Given the description of an element on the screen output the (x, y) to click on. 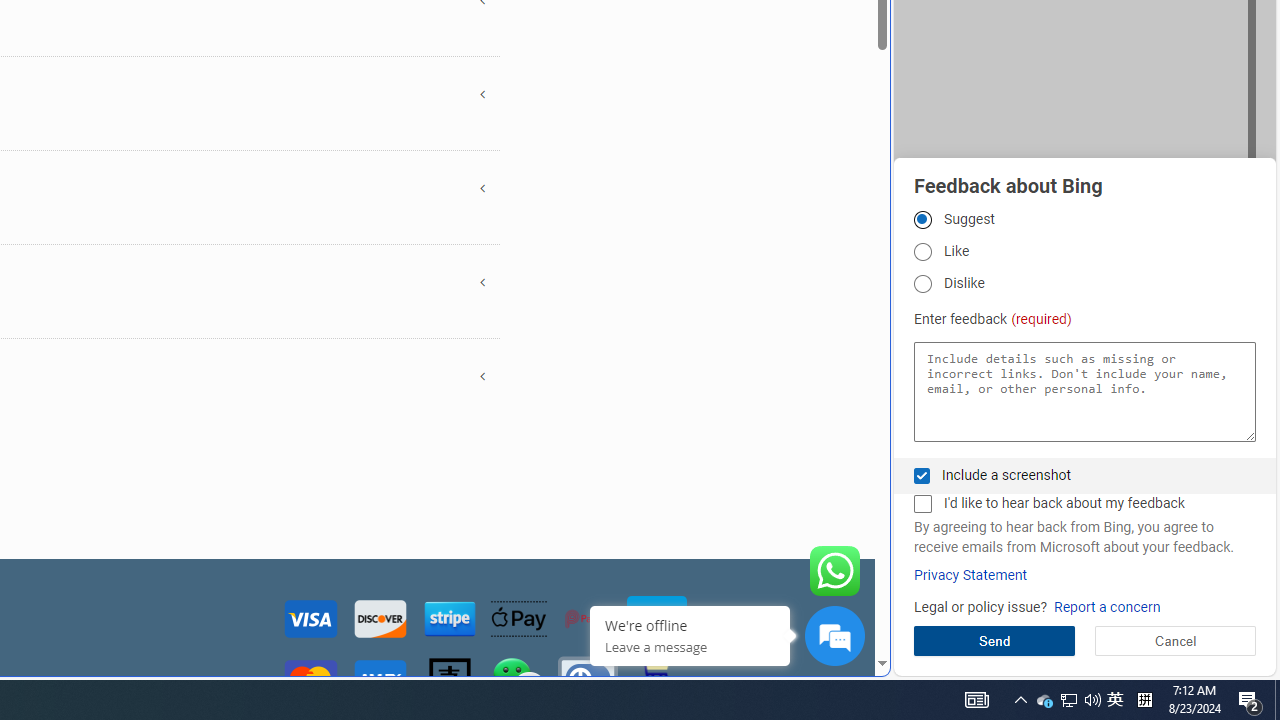
google_privacy_policy_zh-CN.pdf (687, 482)
Include a screenshot (921, 475)
Privacy Statement (970, 575)
Send (994, 640)
Cancel (1174, 640)
Like (922, 251)
Suggest (922, 219)
I'd like to hear back about my feedback (922, 503)
Report a concern (1106, 607)
